Given the description of an element on the screen output the (x, y) to click on. 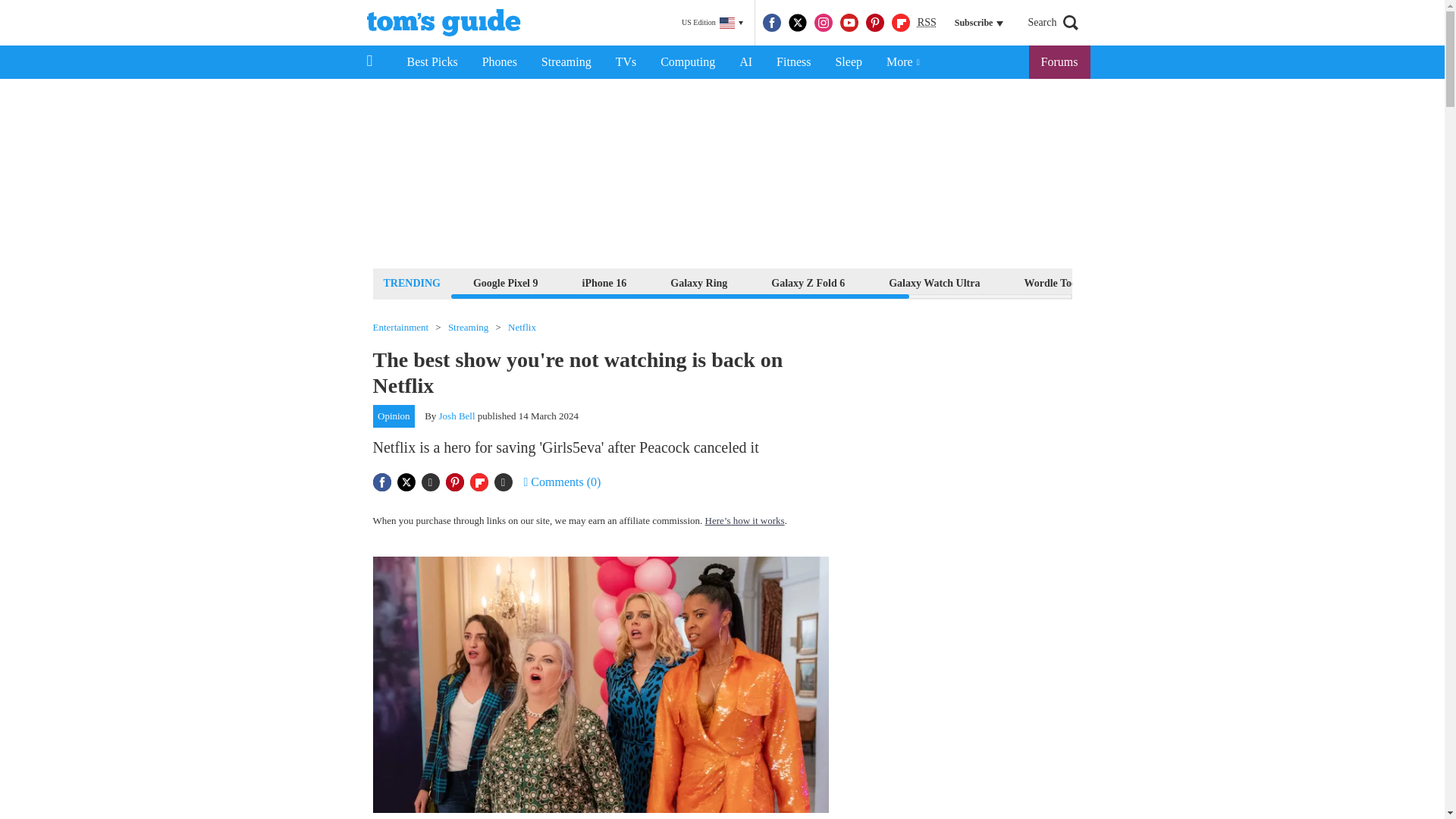
AI (745, 61)
Best Picks (431, 61)
US Edition (712, 22)
Streaming (566, 61)
Really Simple Syndication (926, 21)
RSS (926, 22)
Computing (686, 61)
Fitness (793, 61)
TVs (626, 61)
Phones (499, 61)
Sleep (848, 61)
